Given the description of an element on the screen output the (x, y) to click on. 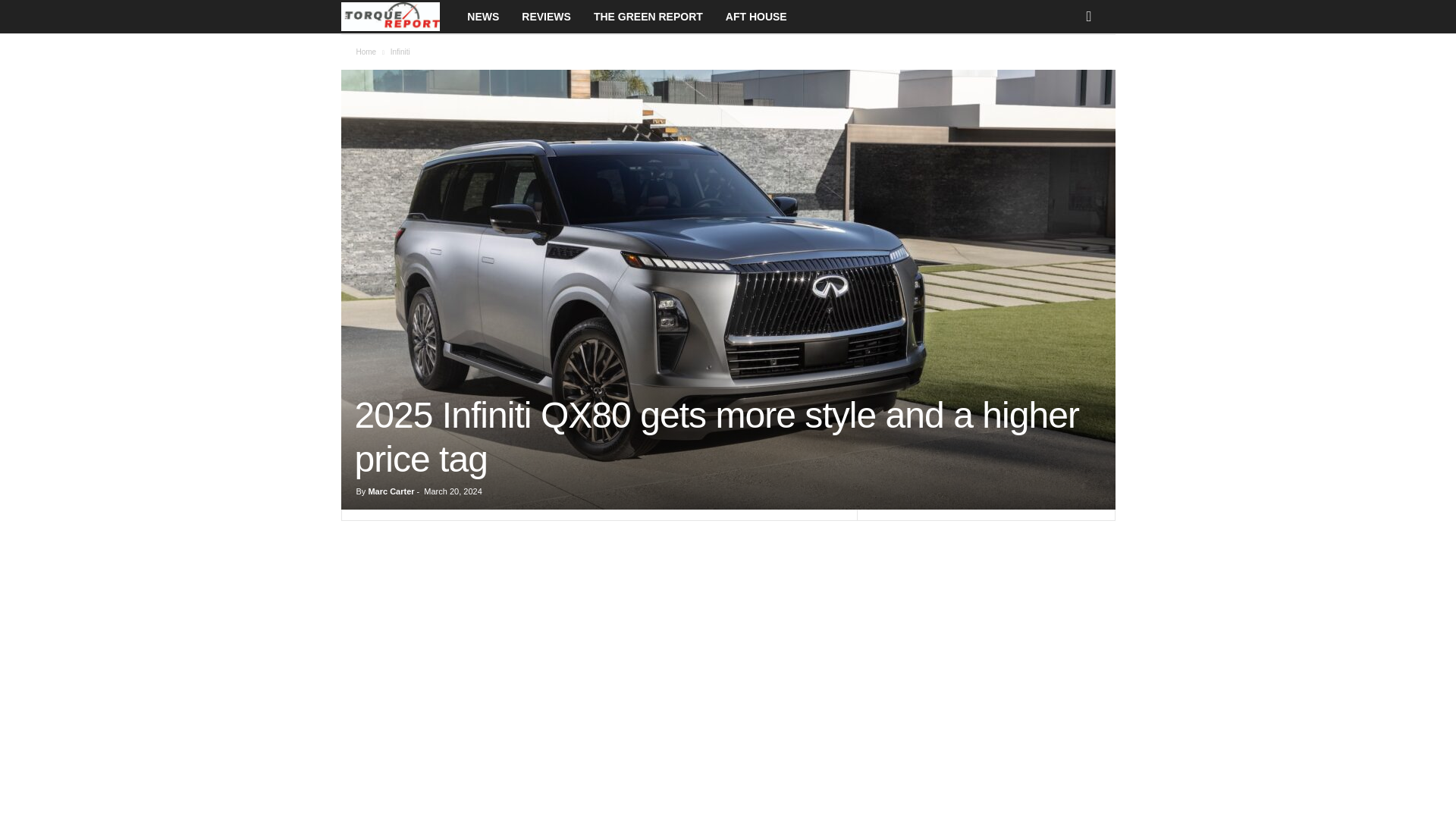
Home (366, 51)
REVIEWS (546, 16)
The Torque Report (398, 17)
THE GREEN REPORT (648, 16)
Marc Carter (390, 491)
NEWS (483, 16)
AFT HOUSE (755, 16)
